Given the description of an element on the screen output the (x, y) to click on. 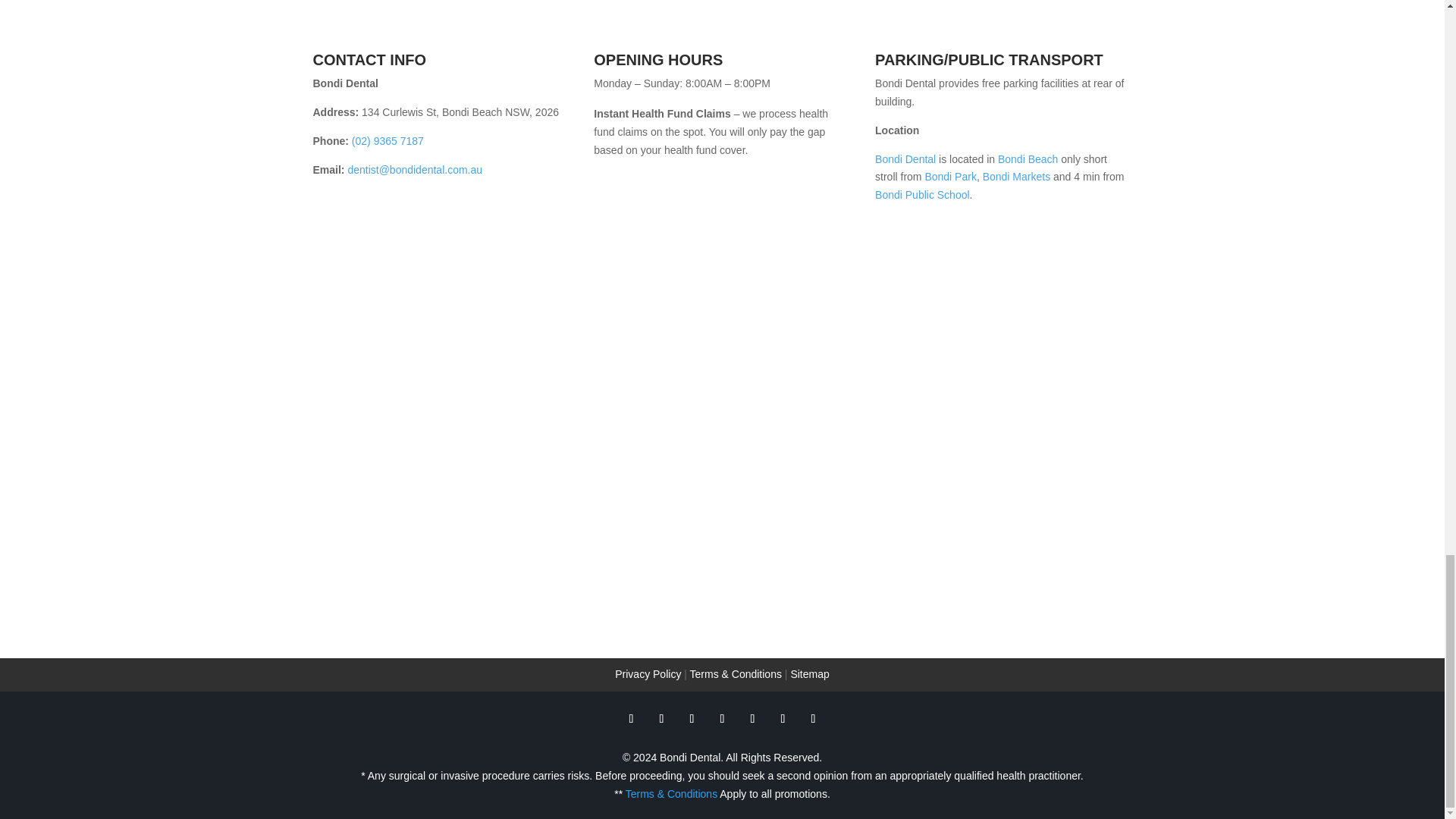
Follow on Pinterest (751, 718)
Follow on X (660, 718)
Follow on Google (691, 718)
Follow on LinkedIn (782, 718)
Follow on Youtube (721, 718)
Follow on Instagram (812, 718)
Privacy Policy (647, 674)
Follow on Facebook (630, 718)
